Given the description of an element on the screen output the (x, y) to click on. 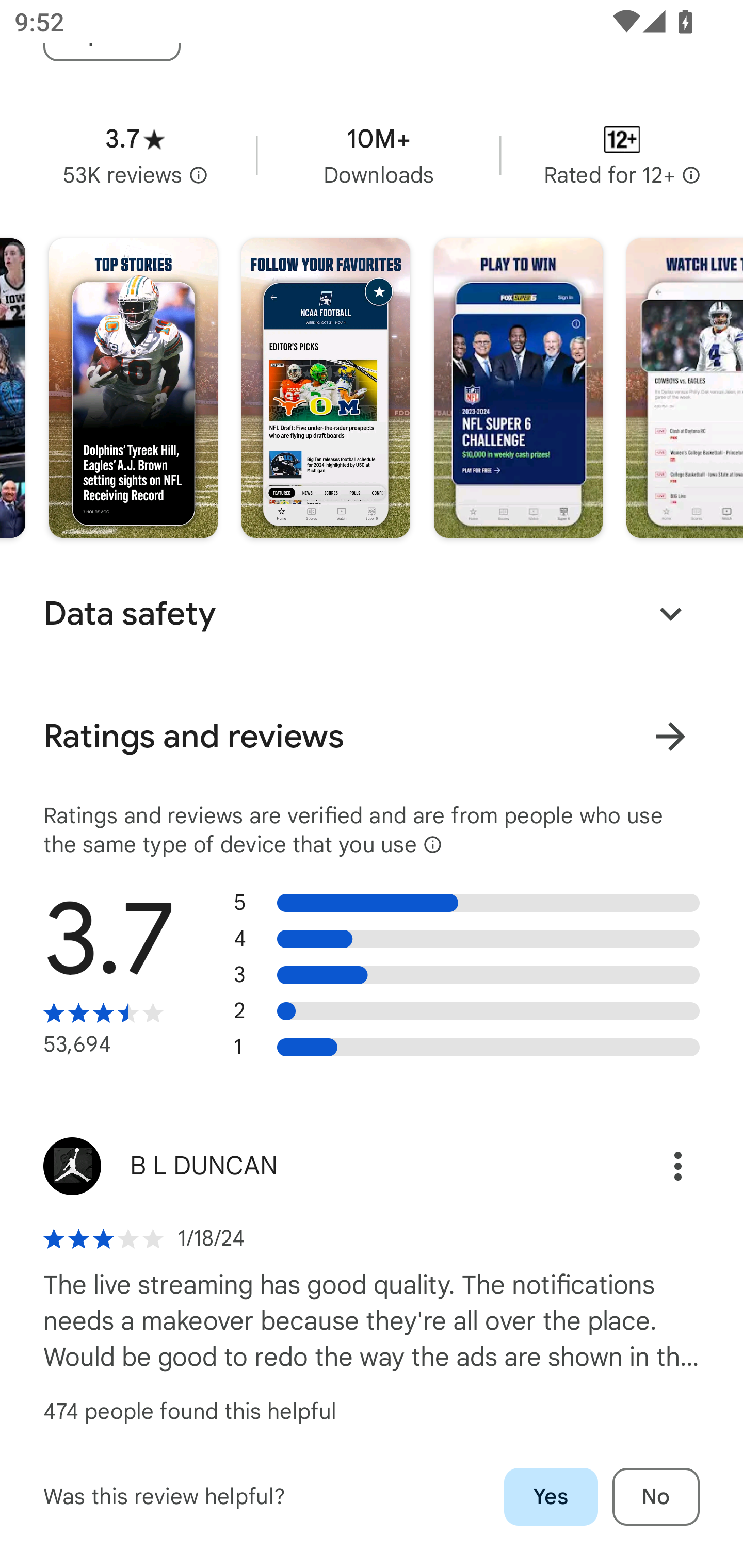
Average rating 3.7 stars in 53 thousand reviews (135, 155)
Content rating Rated for 12+ (622, 155)
Screenshot "1" of "5" (133, 387)
Screenshot "2" of "5" (325, 387)
Screenshot "3" of "5" (517, 387)
Screenshot "4" of "5" (684, 387)
Data safety Expand (371, 613)
Expand (670, 613)
Ratings and reviews View all ratings and reviews (371, 736)
View all ratings and reviews (670, 736)
Options (655, 1165)
Yes (550, 1496)
No (655, 1496)
